Given the description of an element on the screen output the (x, y) to click on. 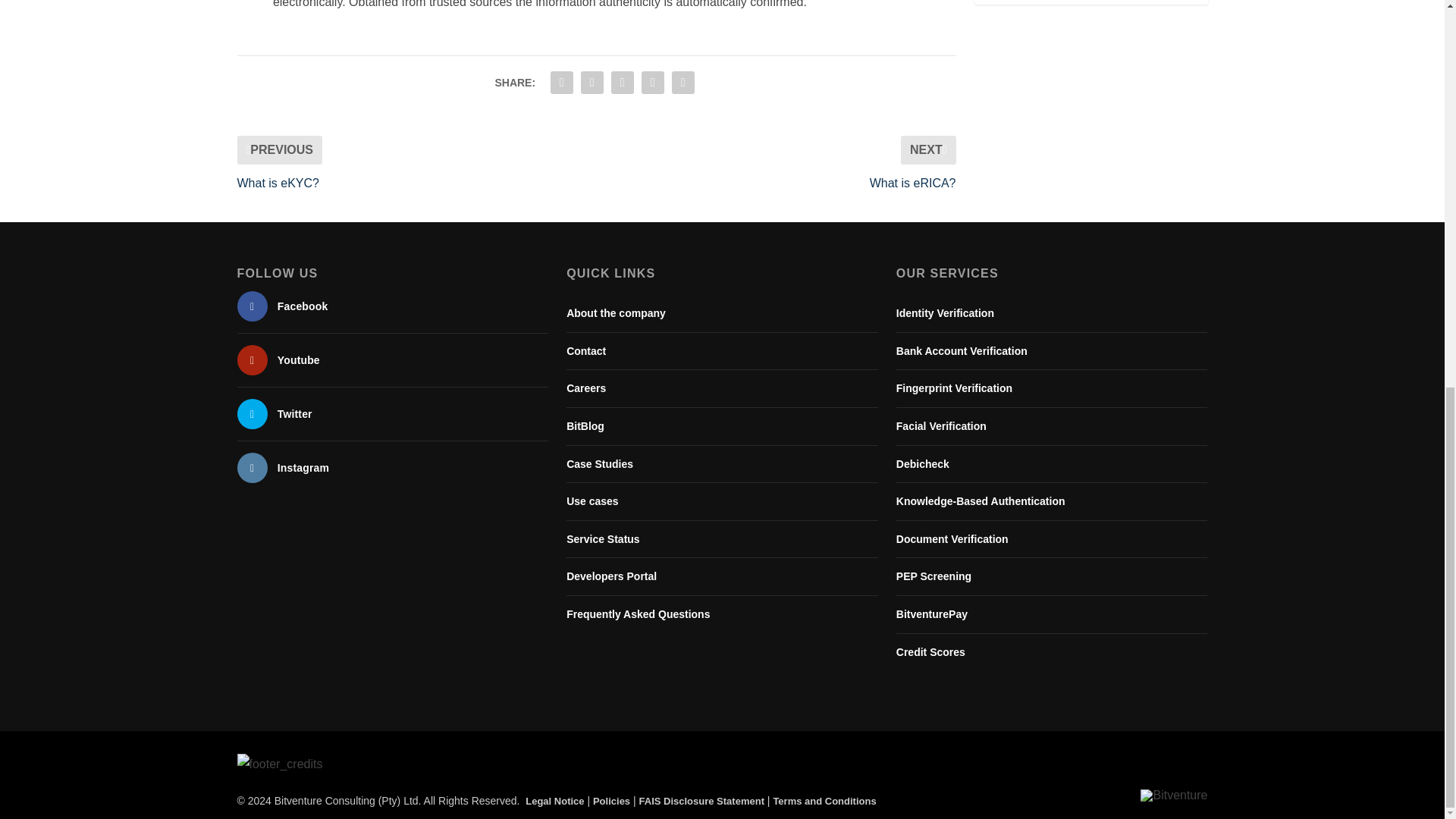
Share "What is eFICA?" via Print (683, 82)
Share "What is eFICA?" via Facebook (561, 82)
Share "What is eFICA?" via Email (652, 82)
Share "What is eFICA?" via LinkedIn (622, 82)
Share "What is eFICA?" via Twitter (591, 82)
